Given the description of an element on the screen output the (x, y) to click on. 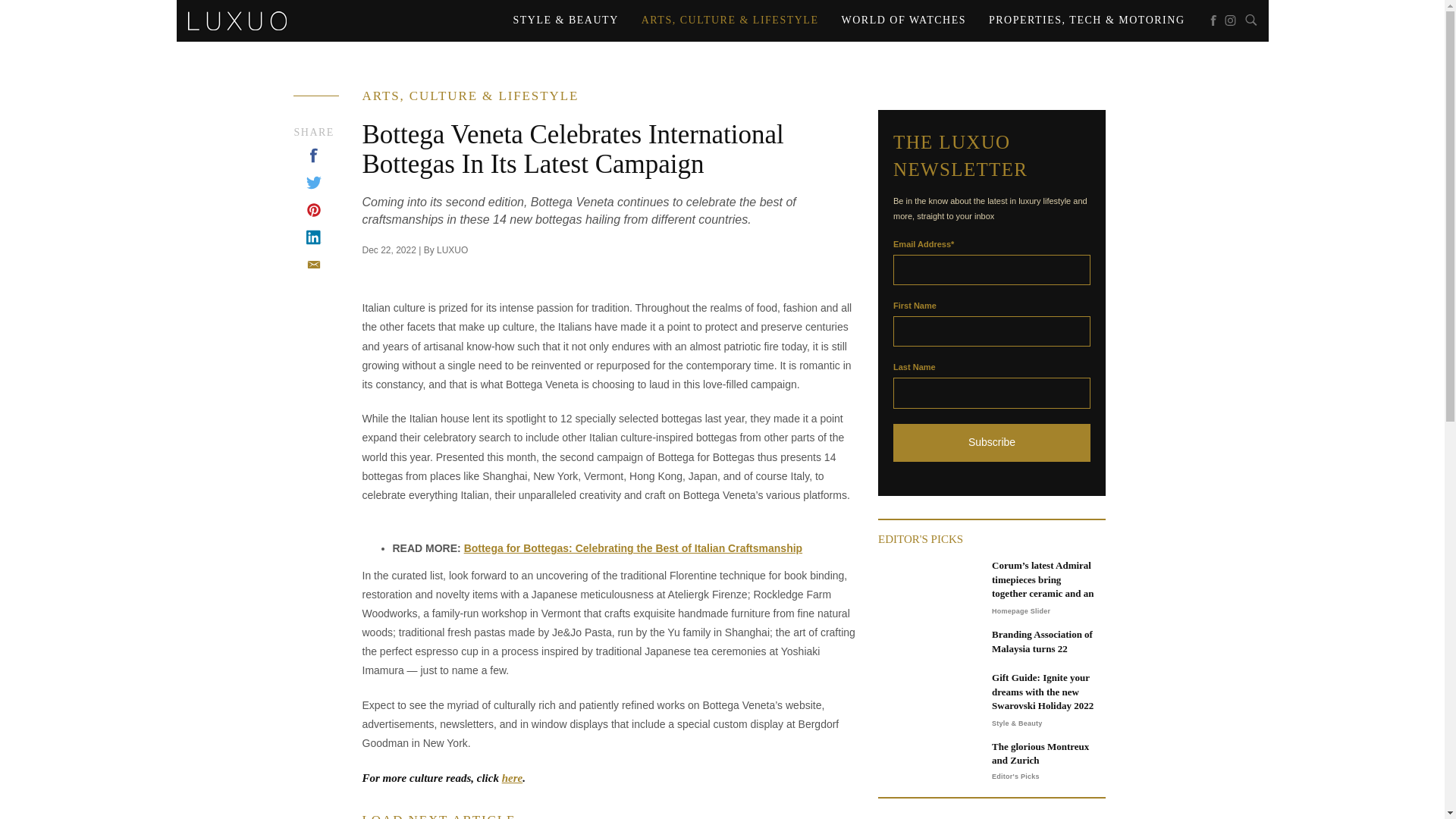
Subscribe (991, 442)
Subscribe (991, 442)
WORLD OF WATCHES (902, 20)
here (512, 777)
